Given the description of an element on the screen output the (x, y) to click on. 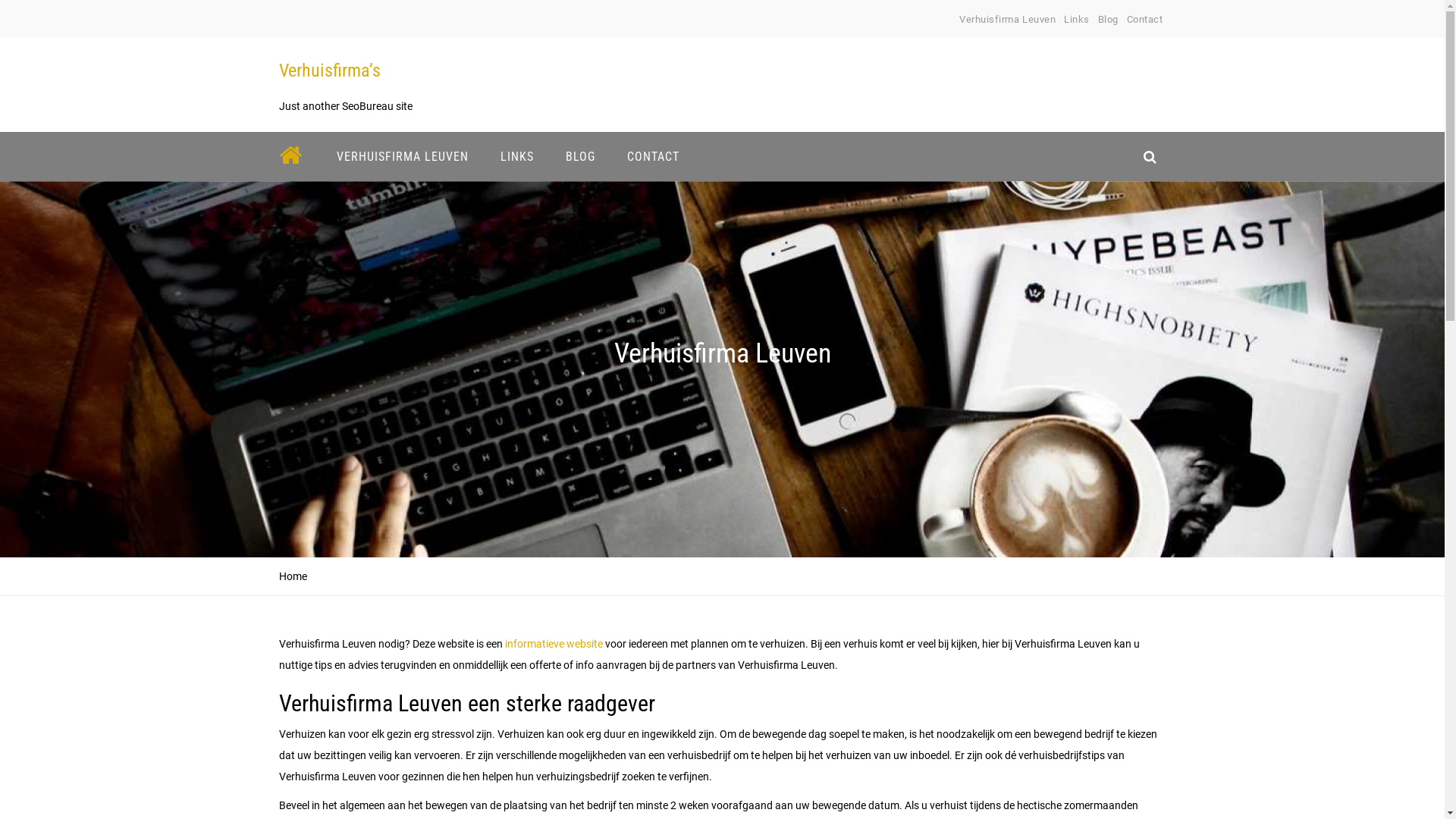
Contact Element type: text (1144, 19)
Blog Element type: text (1108, 19)
BLOG Element type: text (579, 156)
search_icon Element type: hover (1148, 156)
Verhuisfirma Leuven Element type: text (1007, 19)
LINKS Element type: text (515, 156)
informatieve website Element type: text (552, 643)
CONTACT Element type: text (653, 156)
VERHUISFIRMA LEUVEN Element type: text (401, 156)
Links Element type: text (1076, 19)
